Given the description of an element on the screen output the (x, y) to click on. 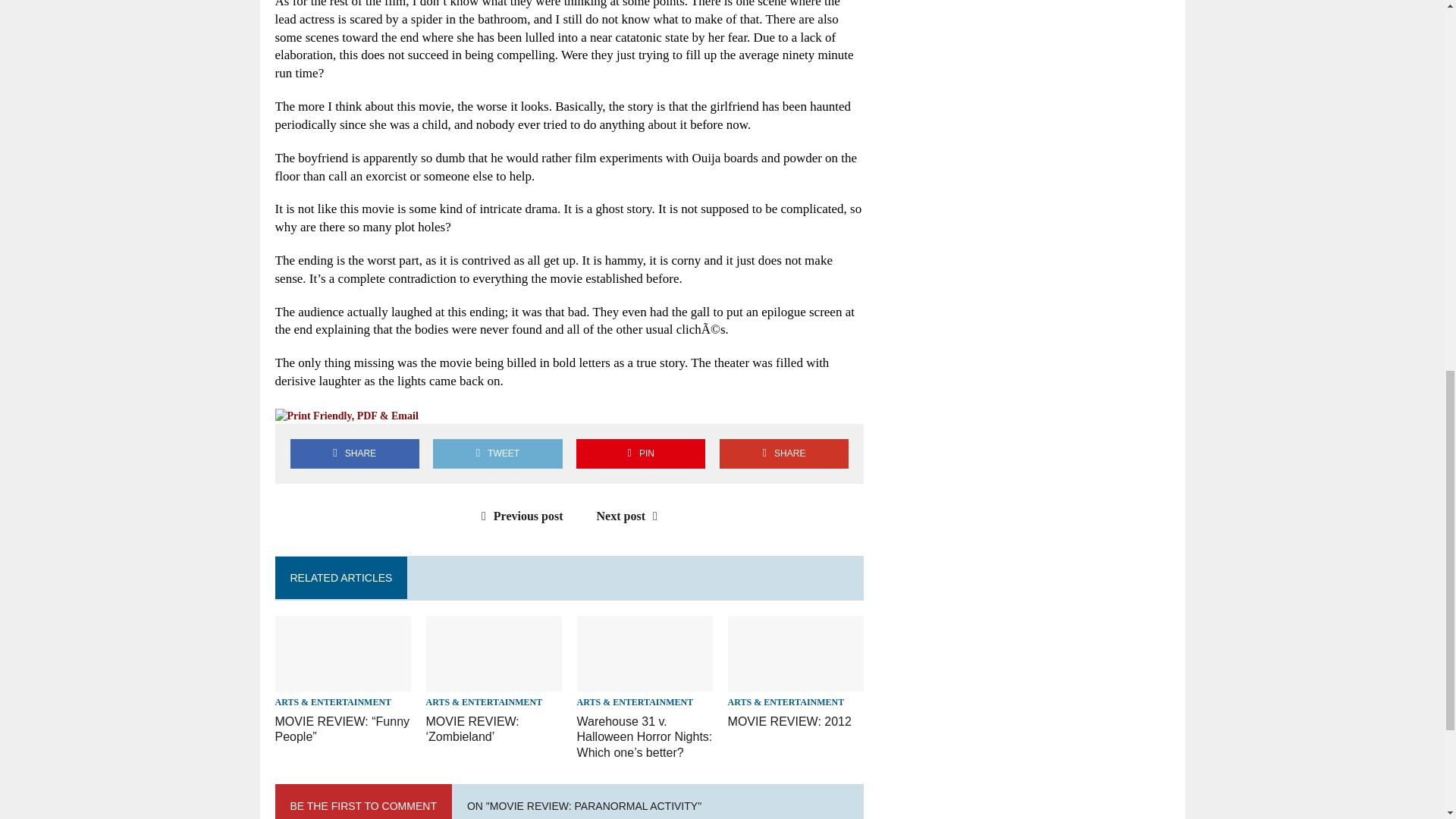
SHARE (354, 453)
SHARE (783, 453)
Previous post (518, 515)
TWEET (497, 453)
Share on Facebook (354, 453)
PIN (640, 453)
Pin This Post (640, 453)
Next post (630, 515)
Tweet This Post (497, 453)
